Given the description of an element on the screen output the (x, y) to click on. 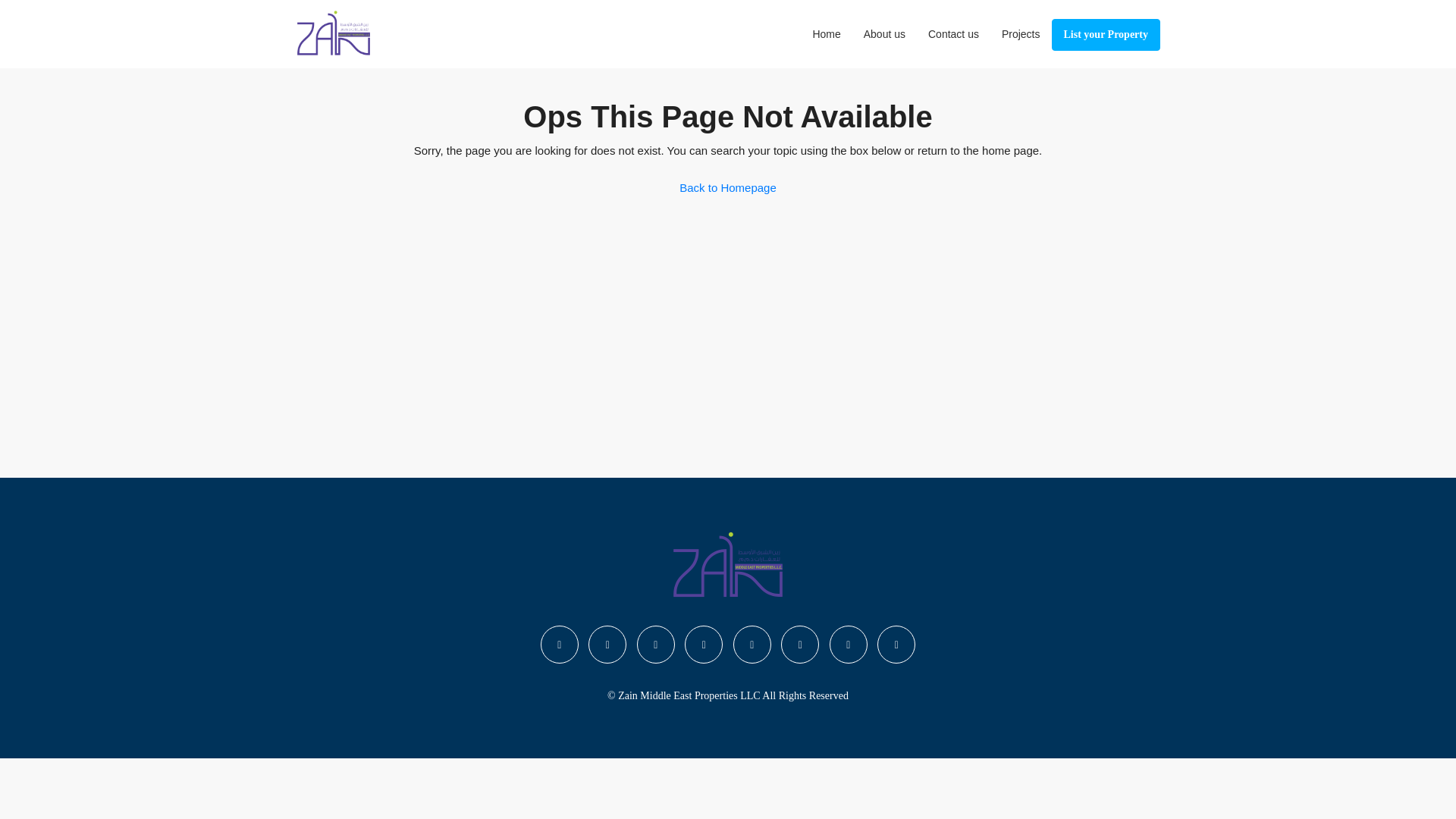
Contact us (953, 33)
List your Property (1105, 34)
About us (884, 33)
Back to Homepage (727, 187)
Projects (1020, 33)
